Given the description of an element on the screen output the (x, y) to click on. 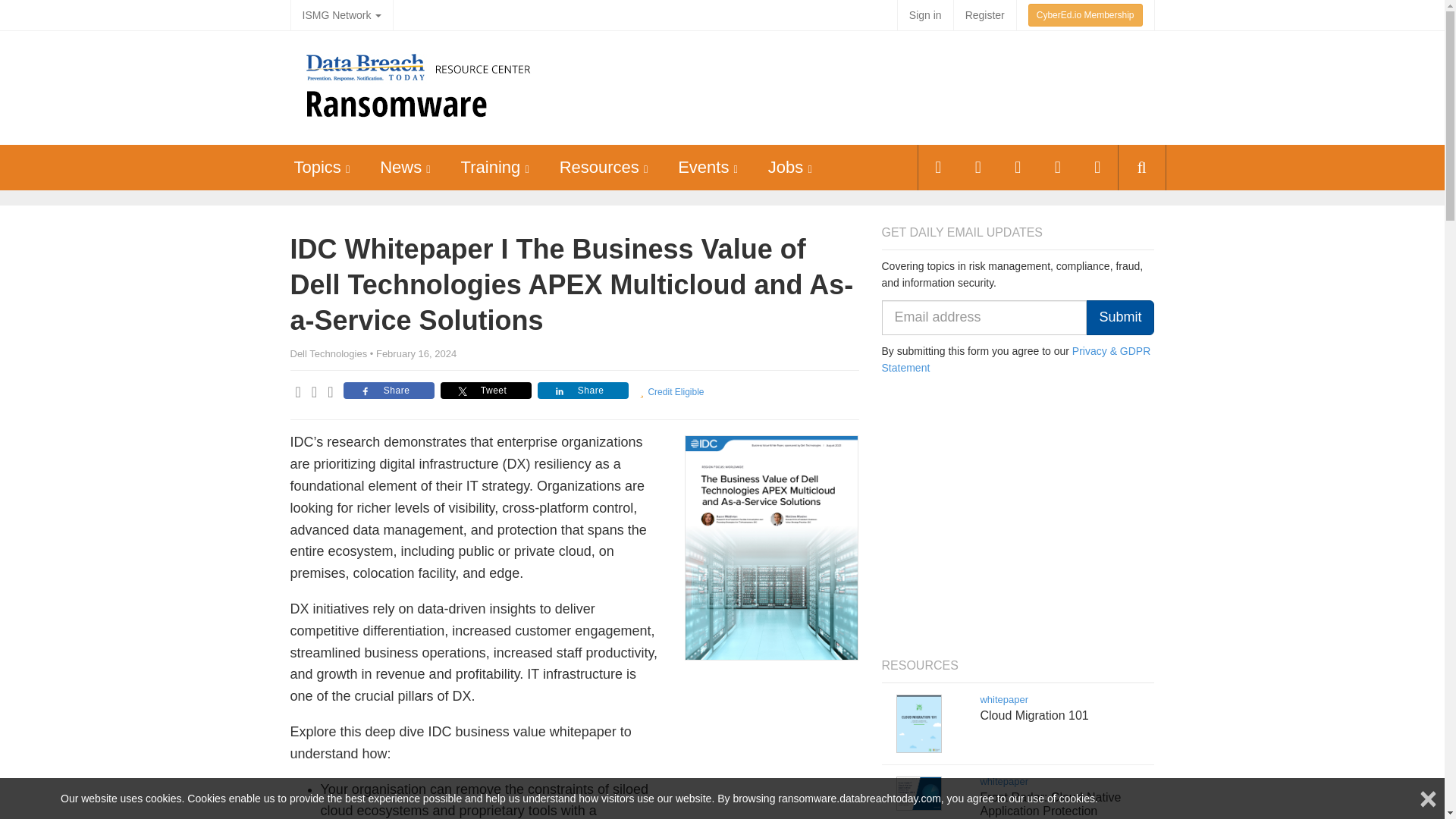
News (401, 167)
Register (984, 15)
Sign in (925, 15)
ISMG Network (341, 15)
3rd party ad content (873, 88)
Topics (317, 167)
CyberEd.io Membership (1084, 15)
